Given the description of an element on the screen output the (x, y) to click on. 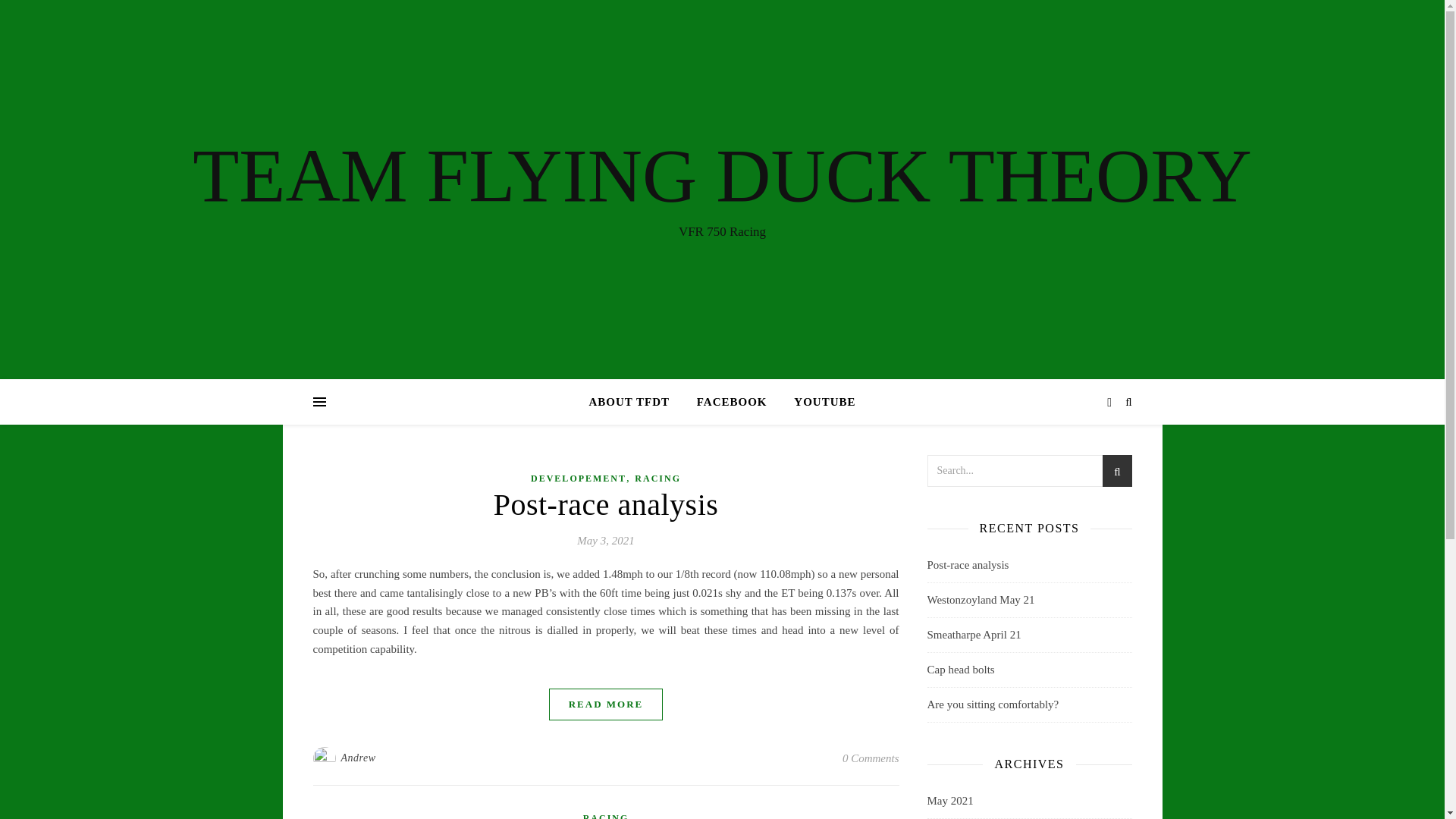
Smeatharpe April 21 (973, 634)
DEVELOPEMENT (578, 478)
RACING (605, 814)
YOUTUBE (818, 402)
Andrew (357, 757)
RACING (657, 478)
Westonzoyland May 21 (979, 599)
ABOUT TFDT (634, 402)
Post-race analysis (967, 564)
Post-race analysis (606, 504)
